Given the description of an element on the screen output the (x, y) to click on. 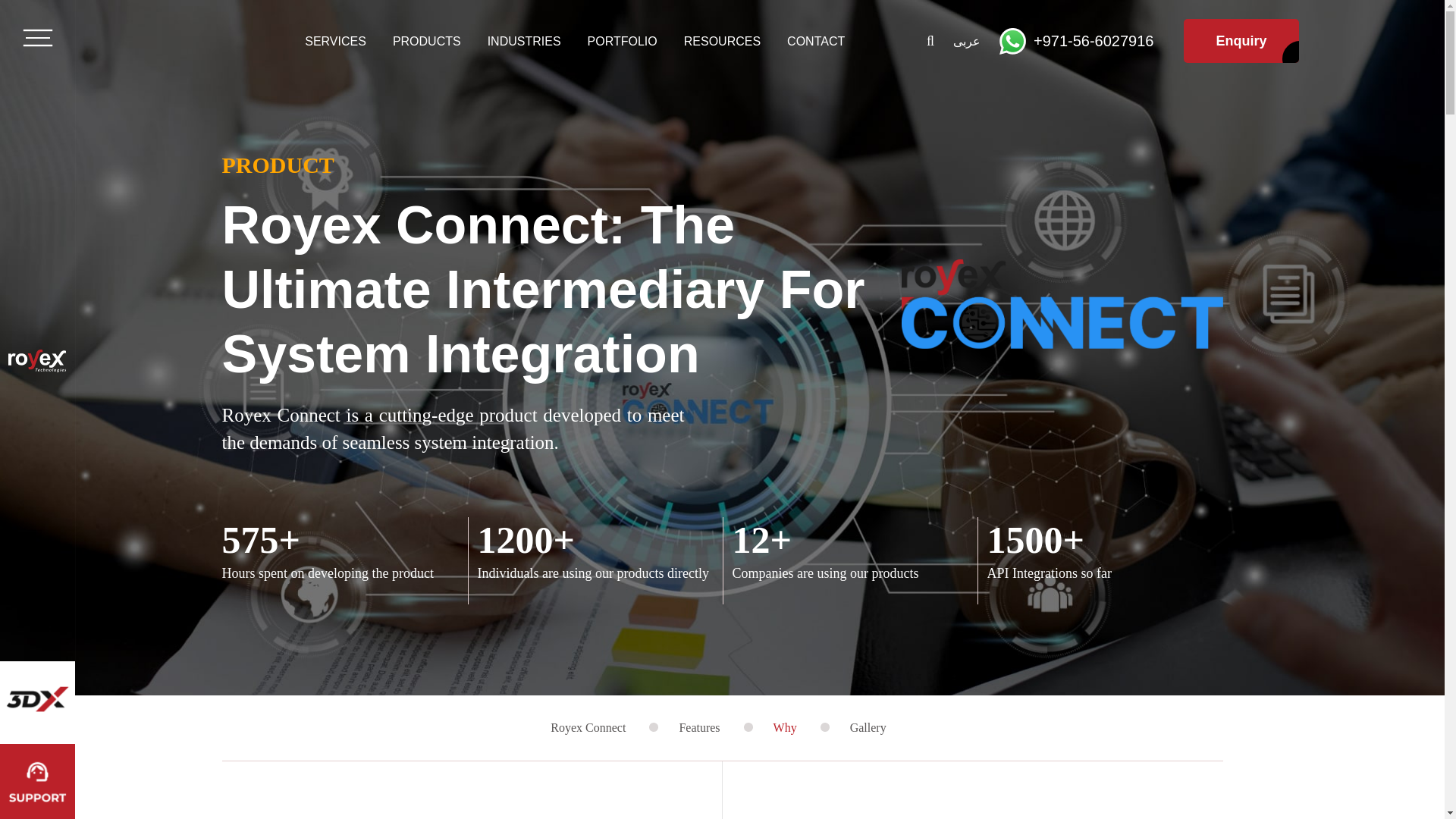
SERVICES (335, 40)
INDUSTRIES (523, 40)
PRODUCTS (427, 40)
